Given the description of an element on the screen output the (x, y) to click on. 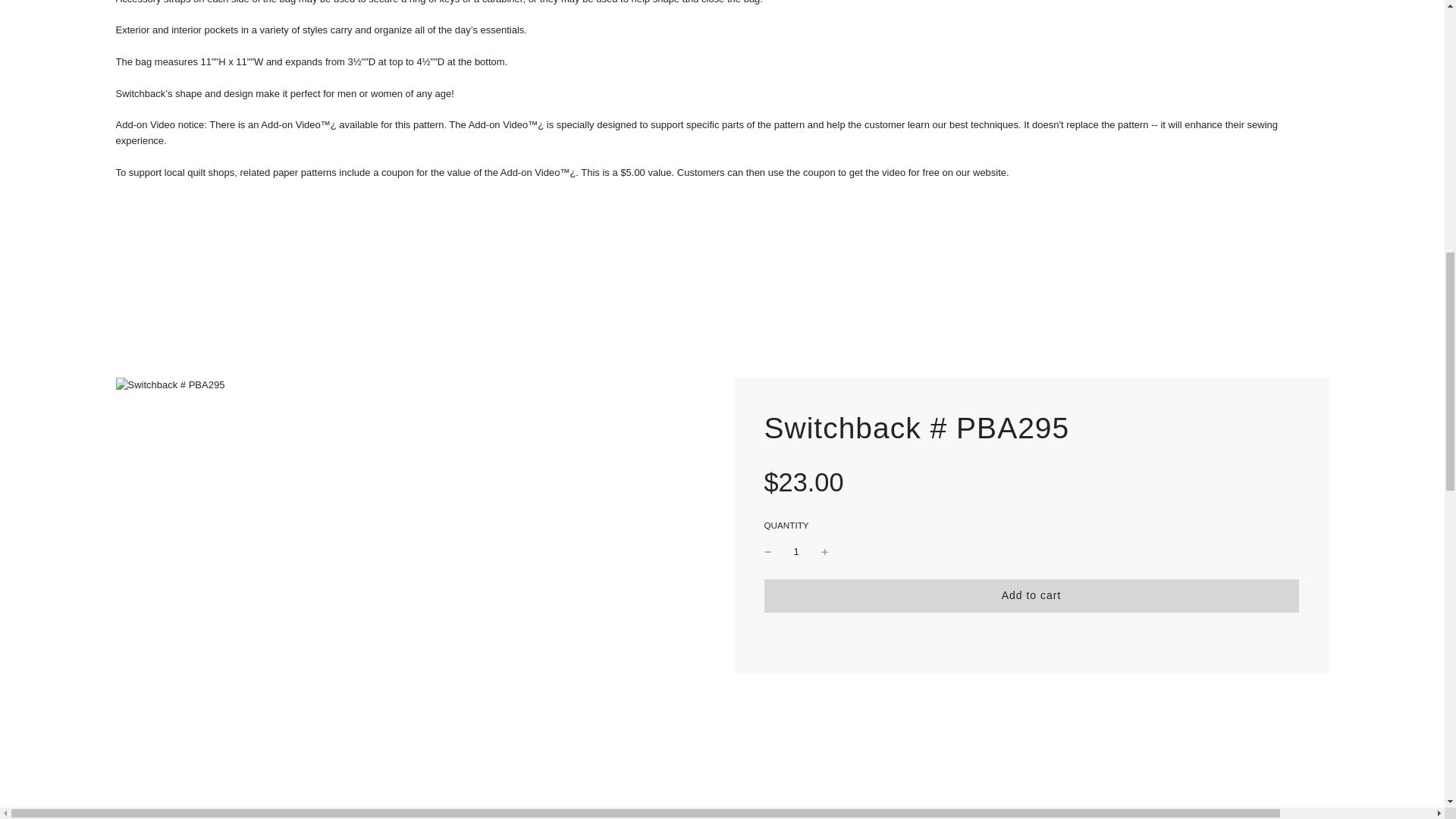
1 (796, 552)
